Given the description of an element on the screen output the (x, y) to click on. 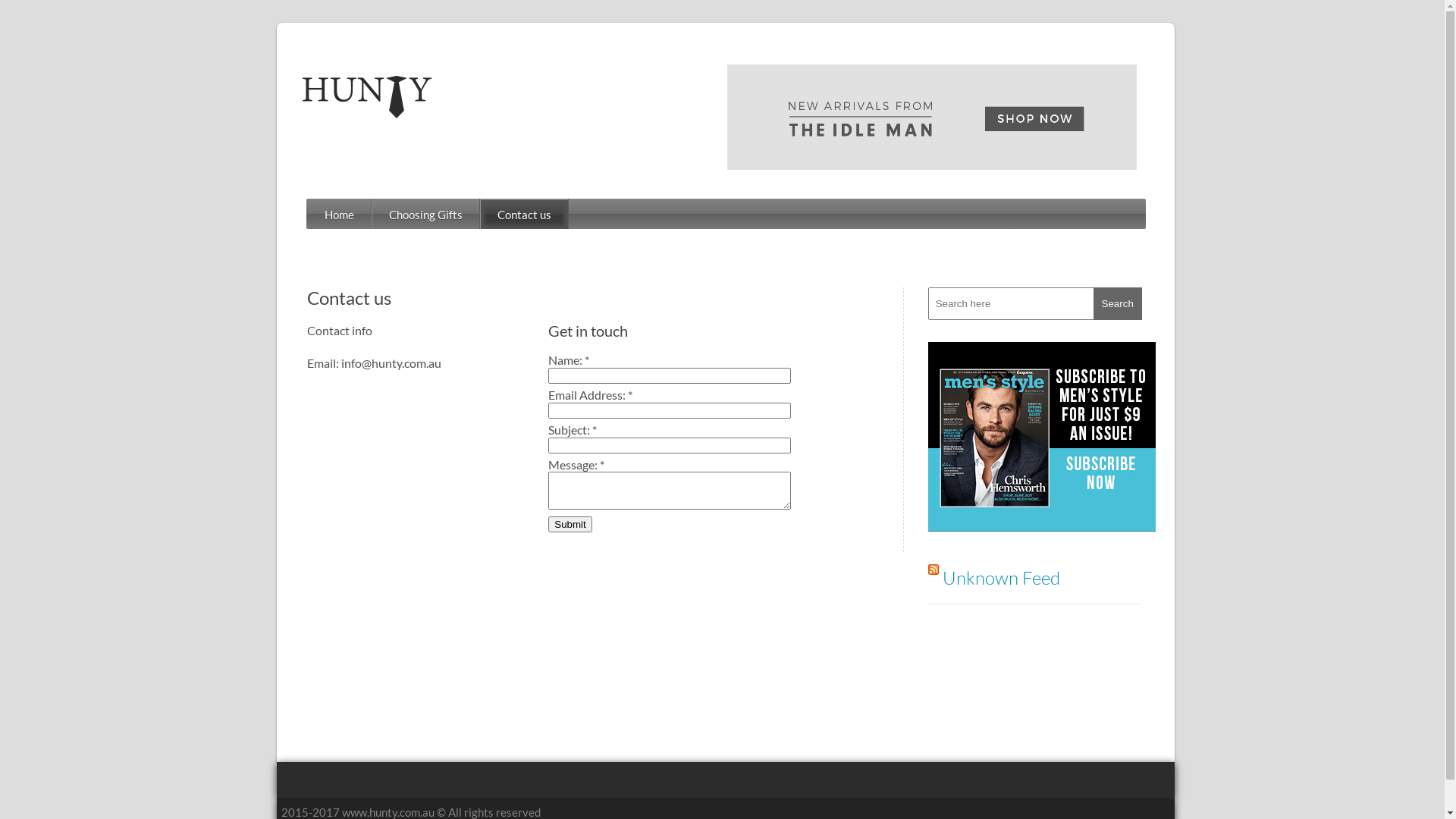
Contact us Element type: text (523, 214)
Unknown Feed Element type: text (1001, 577)
Home Element type: text (338, 214)
Submit Element type: text (569, 524)
Search Element type: text (1117, 303)
Choosing Gifts Element type: text (425, 214)
